Given the description of an element on the screen output the (x, y) to click on. 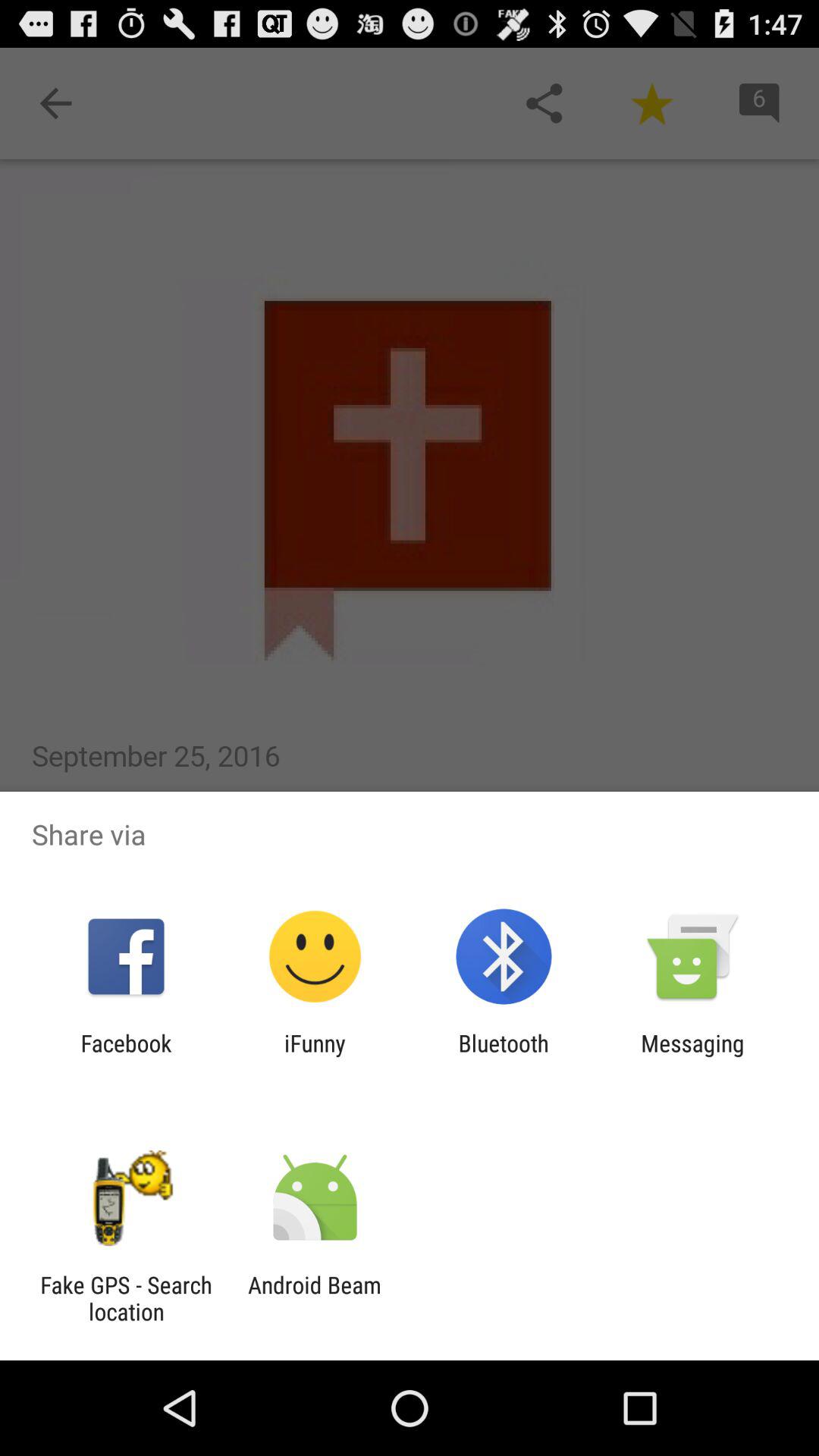
choose facebook icon (125, 1056)
